Given the description of an element on the screen output the (x, y) to click on. 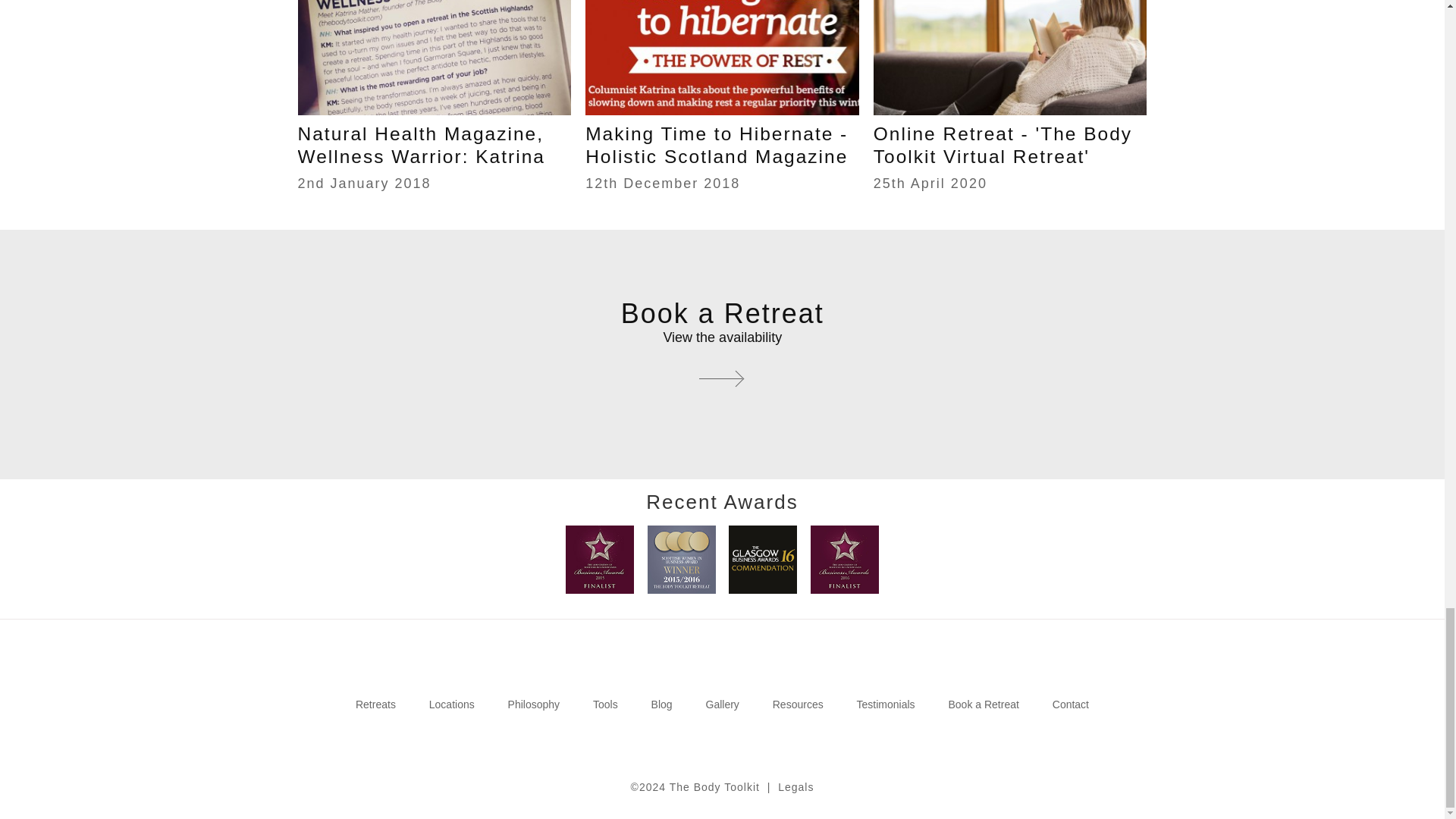
Philosophy (534, 704)
2016 The Glasgow Business Awards commendation (762, 559)
2016 Association of Scottish Businesswomen awards finalist (844, 559)
Blog (661, 704)
2015 Scottish Women in Business awards winner (681, 559)
Tools (604, 704)
